Given the description of an element on the screen output the (x, y) to click on. 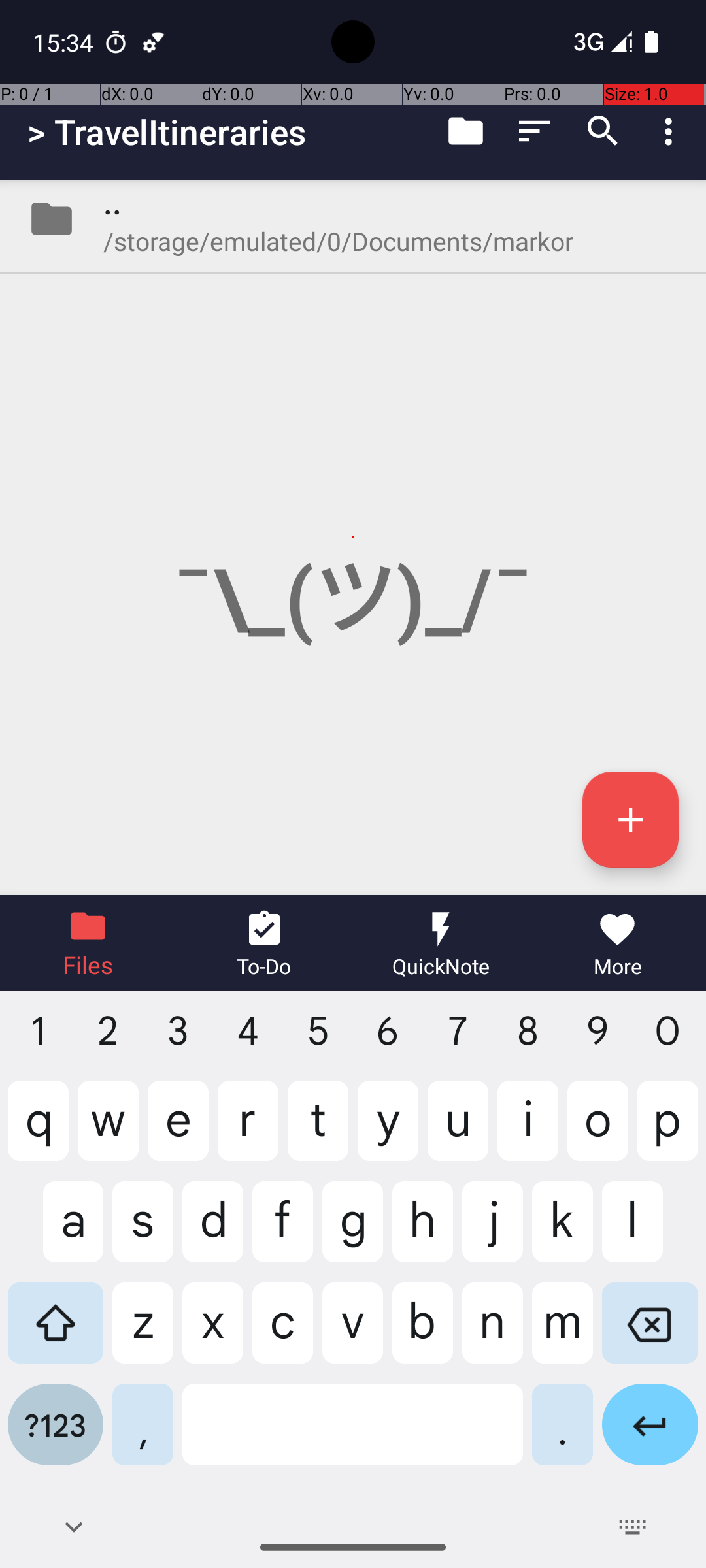
> TravelItineraries Element type: android.widget.TextView (166, 131)
